Given the description of an element on the screen output the (x, y) to click on. 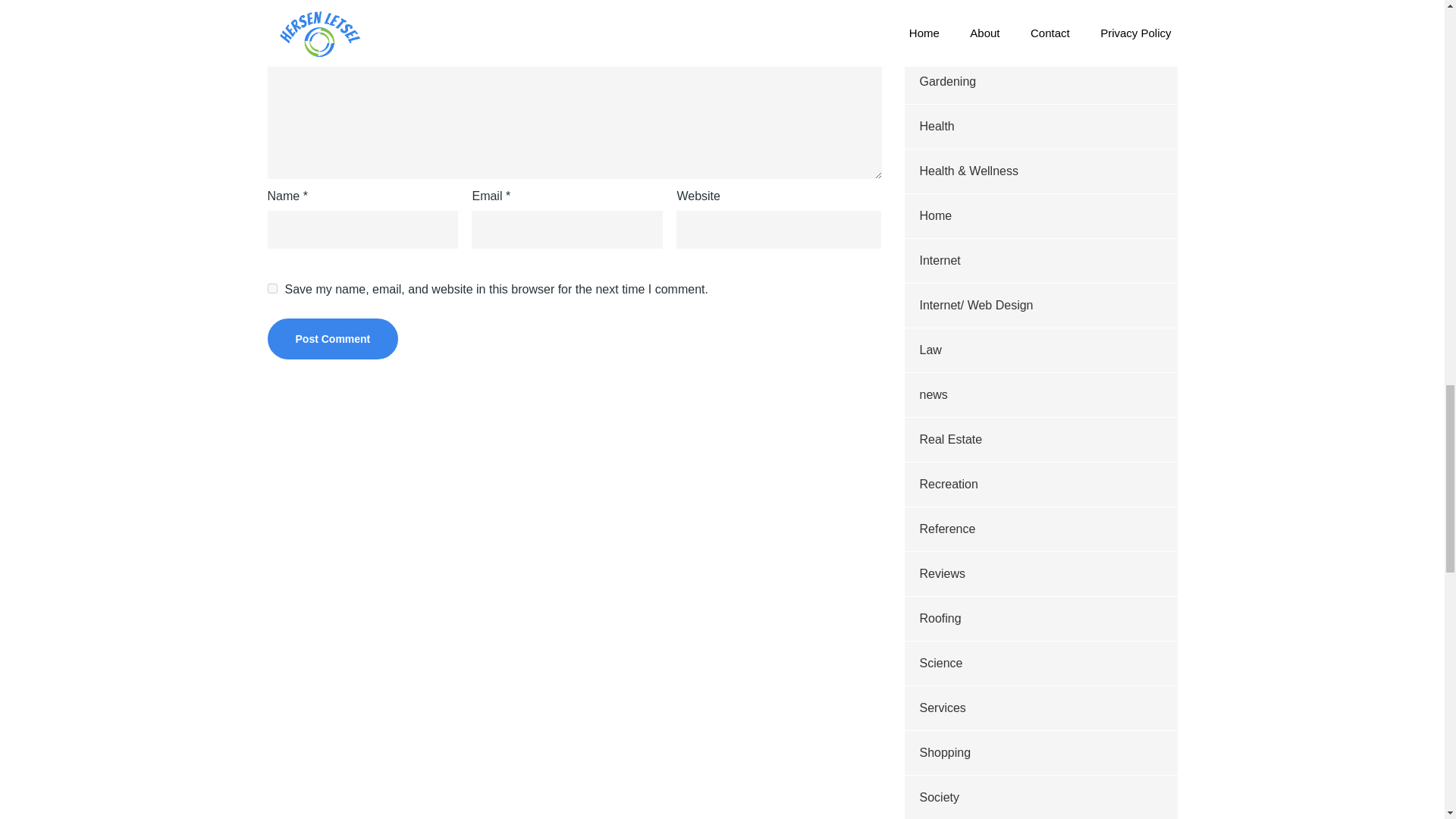
Games (938, 1)
Post Comment (331, 338)
Post Comment (331, 338)
yes (271, 288)
